Given the description of an element on the screen output the (x, y) to click on. 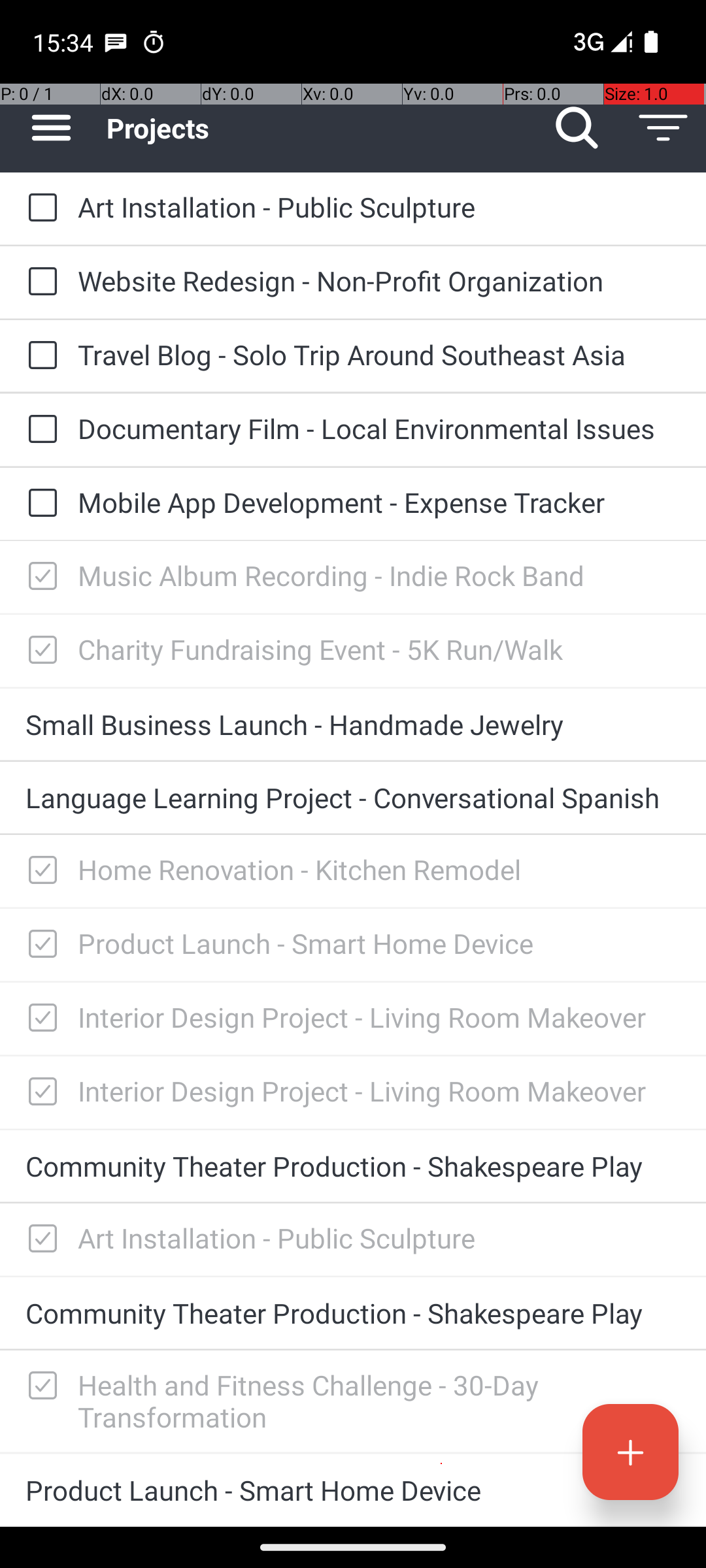
to-do: Art Installation - Public Sculpture Element type: android.widget.CheckBox (38, 208)
to-do: Website Redesign - Non-Profit Organization Element type: android.widget.CheckBox (38, 282)
Website Redesign - Non-Profit Organization Element type: android.widget.TextView (378, 280)
to-do: Travel Blog - Solo Trip Around Southeast Asia Element type: android.widget.CheckBox (38, 356)
Travel Blog - Solo Trip Around Southeast Asia Element type: android.widget.TextView (378, 354)
to-do: Charity Fundraising Event - 5K Run/Walk Element type: android.widget.CheckBox (38, 650)
Charity Fundraising Event - 5K Run/Walk Element type: android.widget.TextView (378, 648)
Small Business Launch - Handmade Jewelry Element type: android.widget.TextView (352, 723)
Language Learning Project - Conversational Spanish Element type: android.widget.TextView (352, 797)
to-do: Product Launch - Smart Home Device Element type: android.widget.CheckBox (38, 944)
Product Launch - Smart Home Device Element type: android.widget.TextView (378, 942)
to-do: Interior Design Project - Living Room Makeover Element type: android.widget.CheckBox (38, 1018)
Interior Design Project - Living Room Makeover Element type: android.widget.TextView (378, 1016)
Community Theater Production - Shakespeare Play Element type: android.widget.TextView (352, 1165)
